Given the description of an element on the screen output the (x, y) to click on. 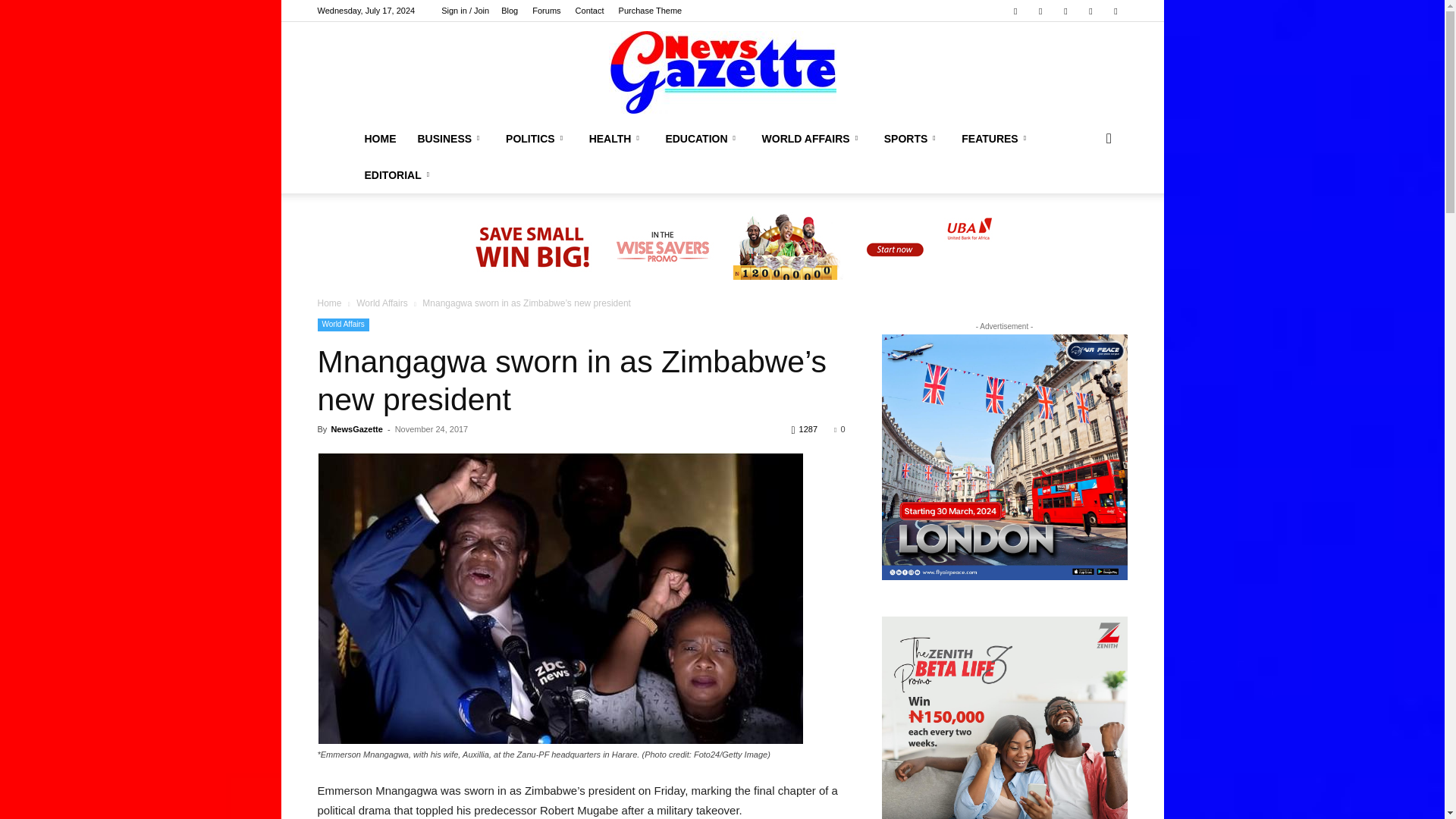
Blog (509, 10)
Twitter (1040, 10)
News Gazette (722, 72)
Vimeo (1065, 10)
Facebook (1015, 10)
Youtube (1114, 10)
Contact (589, 10)
VKontakte (1090, 10)
Forums (546, 10)
Purchase Theme (650, 10)
